Given the description of an element on the screen output the (x, y) to click on. 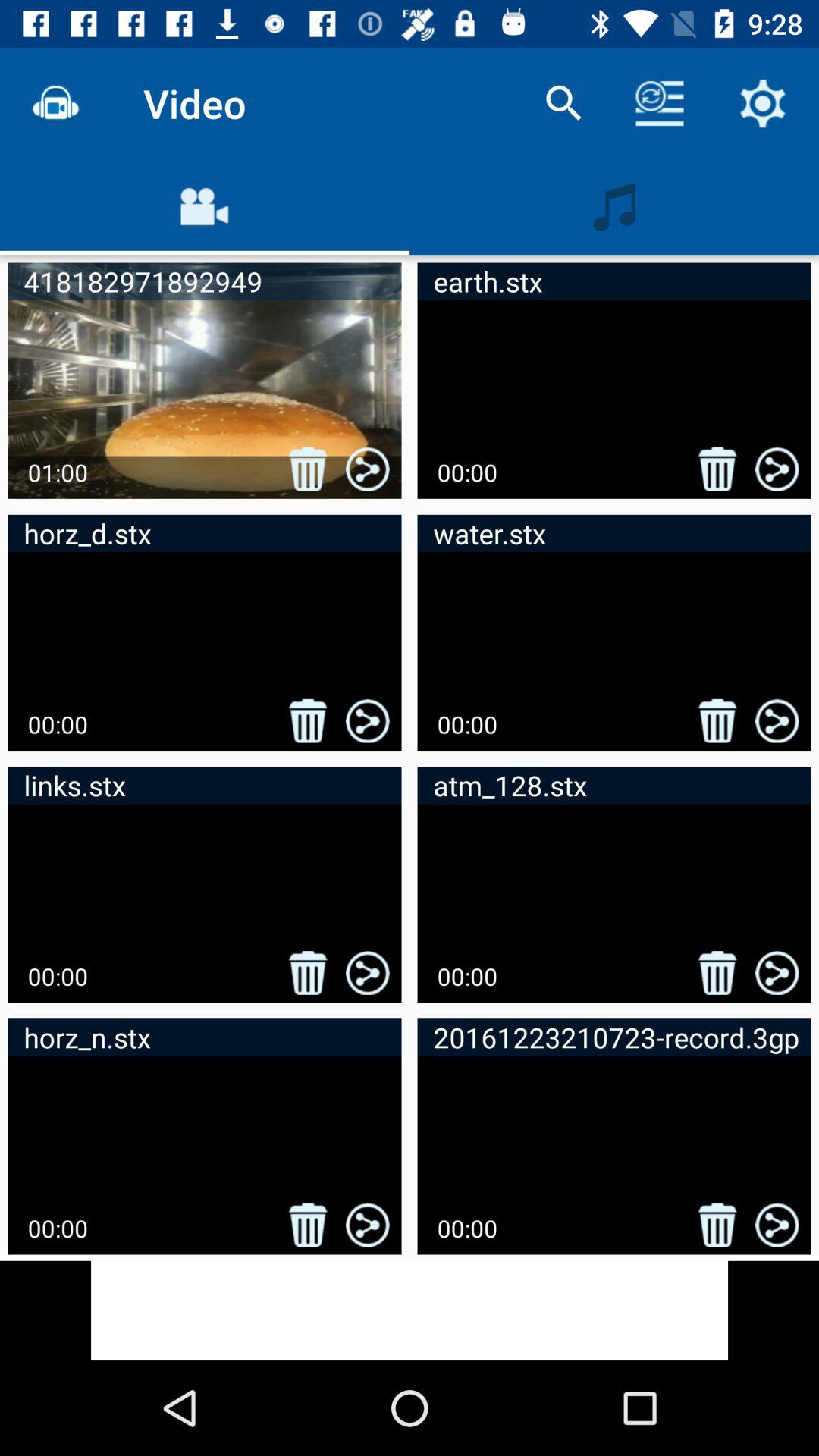
select the settings icon (763, 103)
select the share button in the sixth video (776, 973)
click share icon in first video in first row (367, 469)
click on the 2nd delete button icon (717, 469)
select the second row first image of share logo (367, 720)
click on share button in fourth row second video (776, 1225)
click delete option on second video in third row of the page (717, 973)
click on the share button which is in second row second column (776, 720)
